Given the description of an element on the screen output the (x, y) to click on. 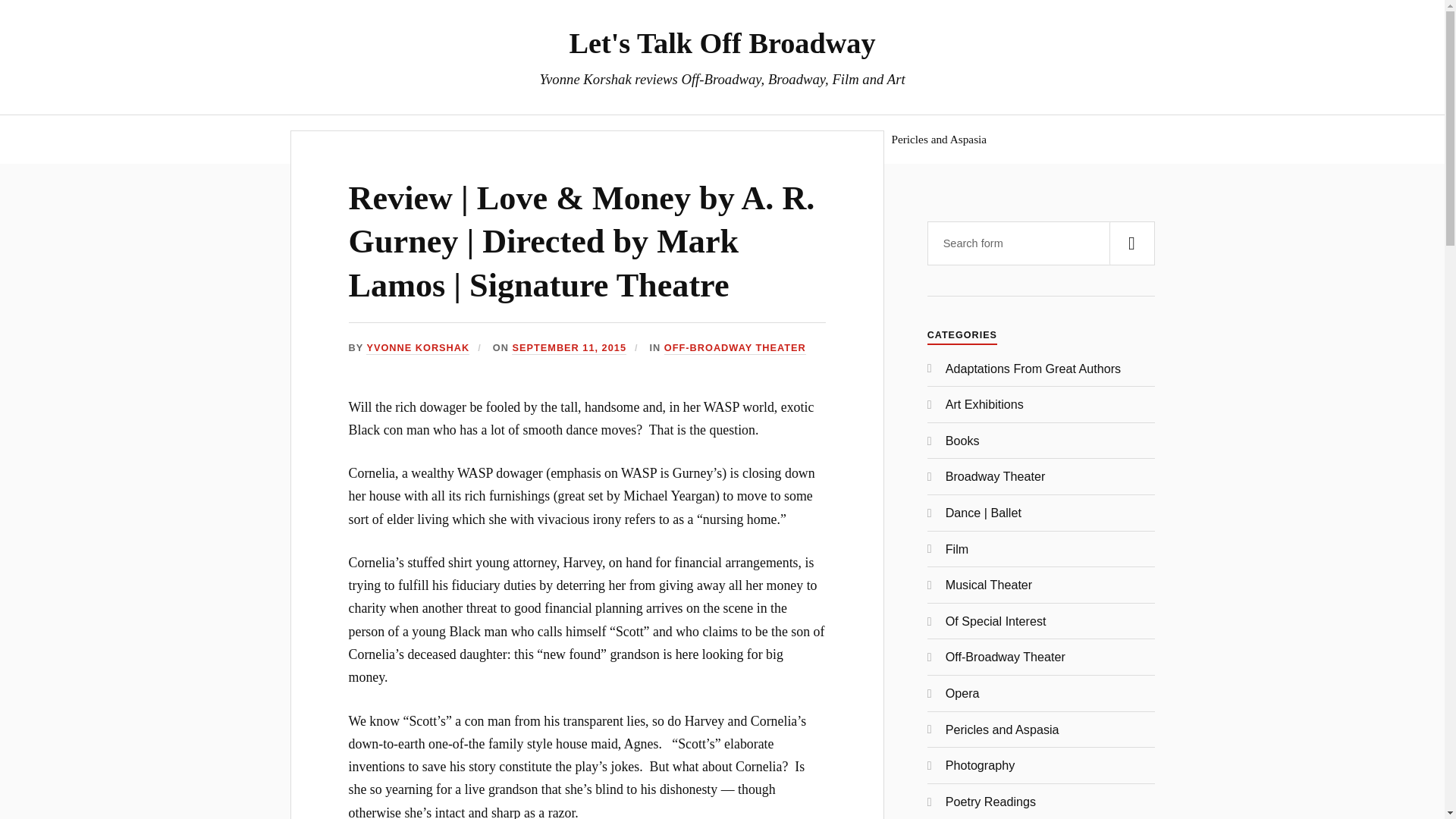
About the Blog (552, 138)
Broadway (738, 138)
Posts by Yvonne Korshak (417, 348)
SEPTEMBER 11, 2015 (569, 348)
Pericles and Aspasia (939, 138)
Let's Talk Off Broadway (722, 42)
OFF-BROADWAY THEATER (734, 348)
YVONNE KORSHAK (417, 348)
Off Broadway (651, 138)
